Given the description of an element on the screen output the (x, y) to click on. 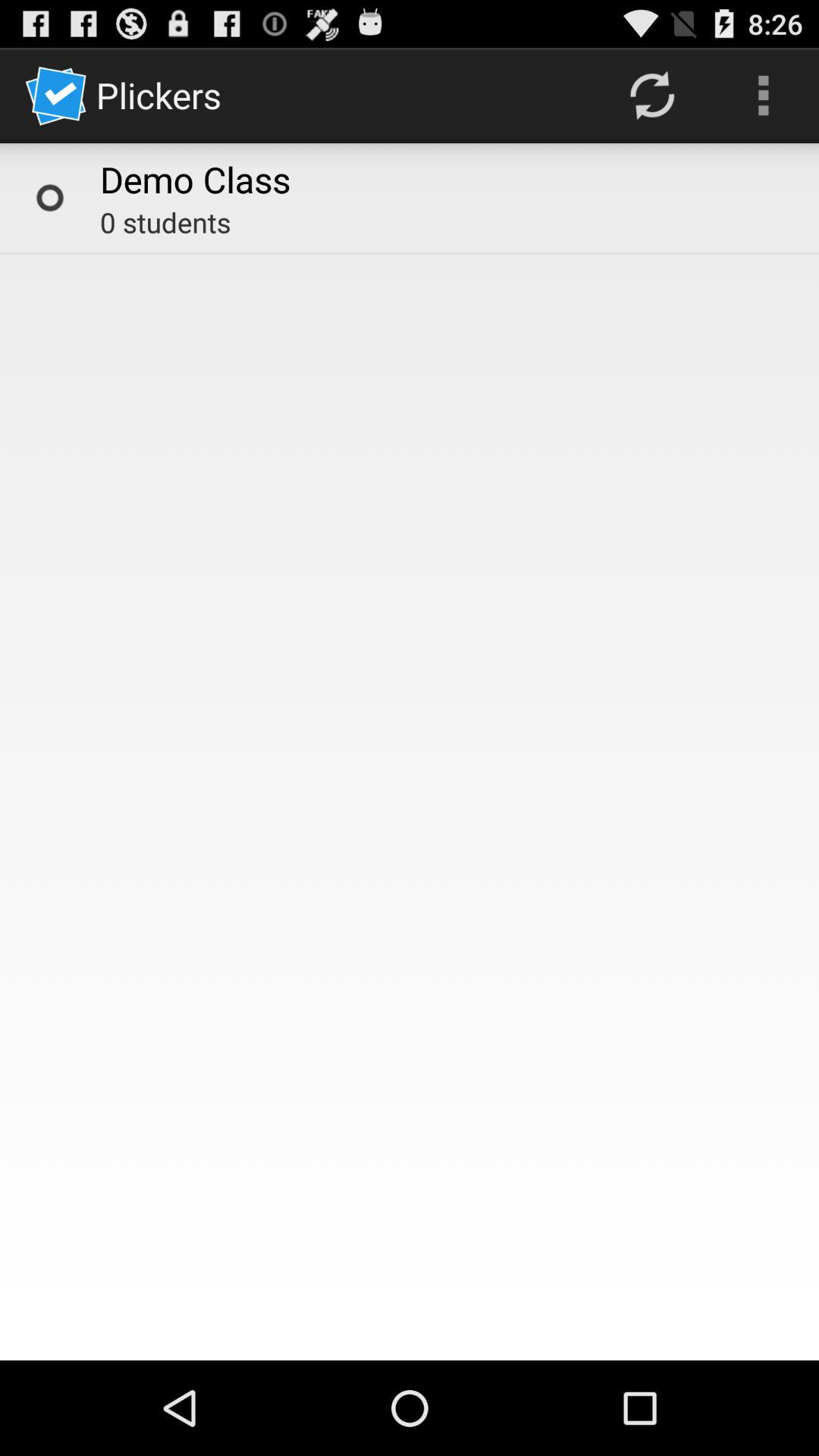
open item above the 0 students icon (195, 179)
